Given the description of an element on the screen output the (x, y) to click on. 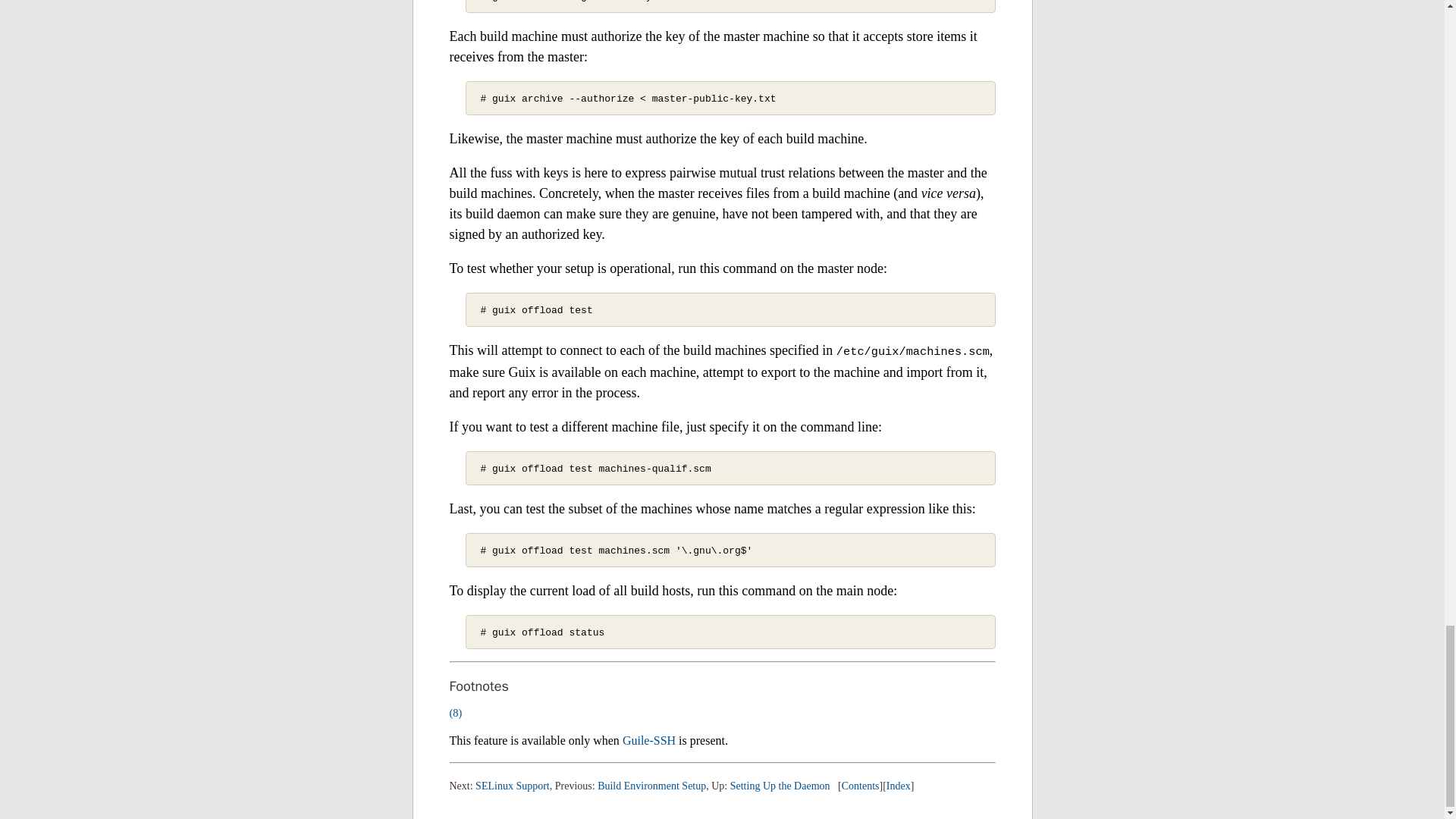
SELinux Support (513, 785)
